Given the description of an element on the screen output the (x, y) to click on. 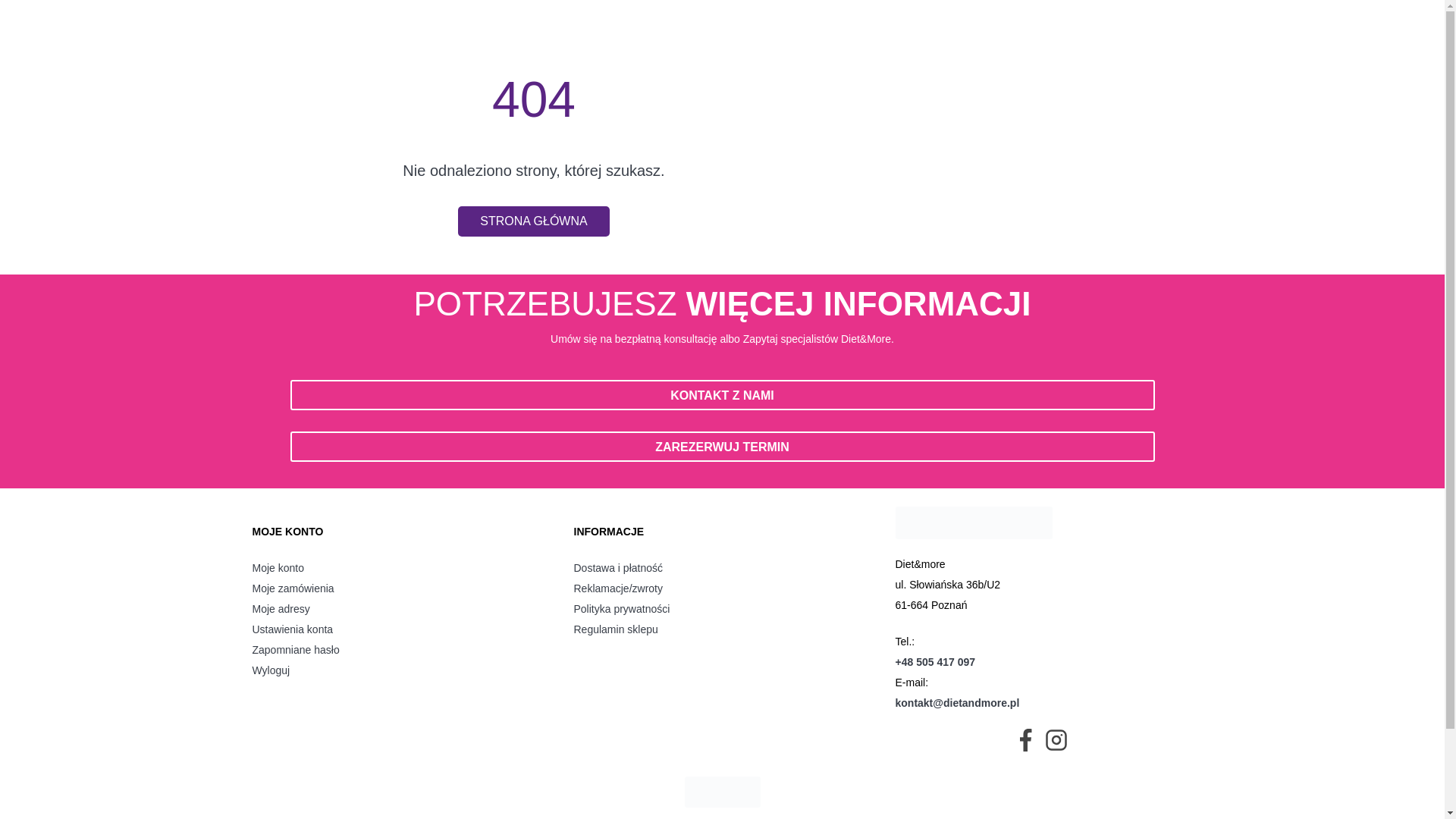
Wyloguj (399, 670)
Moje adresy (399, 608)
Ustawienia konta (399, 629)
KONTAKT Z NAMI (721, 395)
Moje konto (399, 567)
Regulamin sklepu (721, 629)
ZAREZERWUJ TERMIN (721, 446)
